Given the description of an element on the screen output the (x, y) to click on. 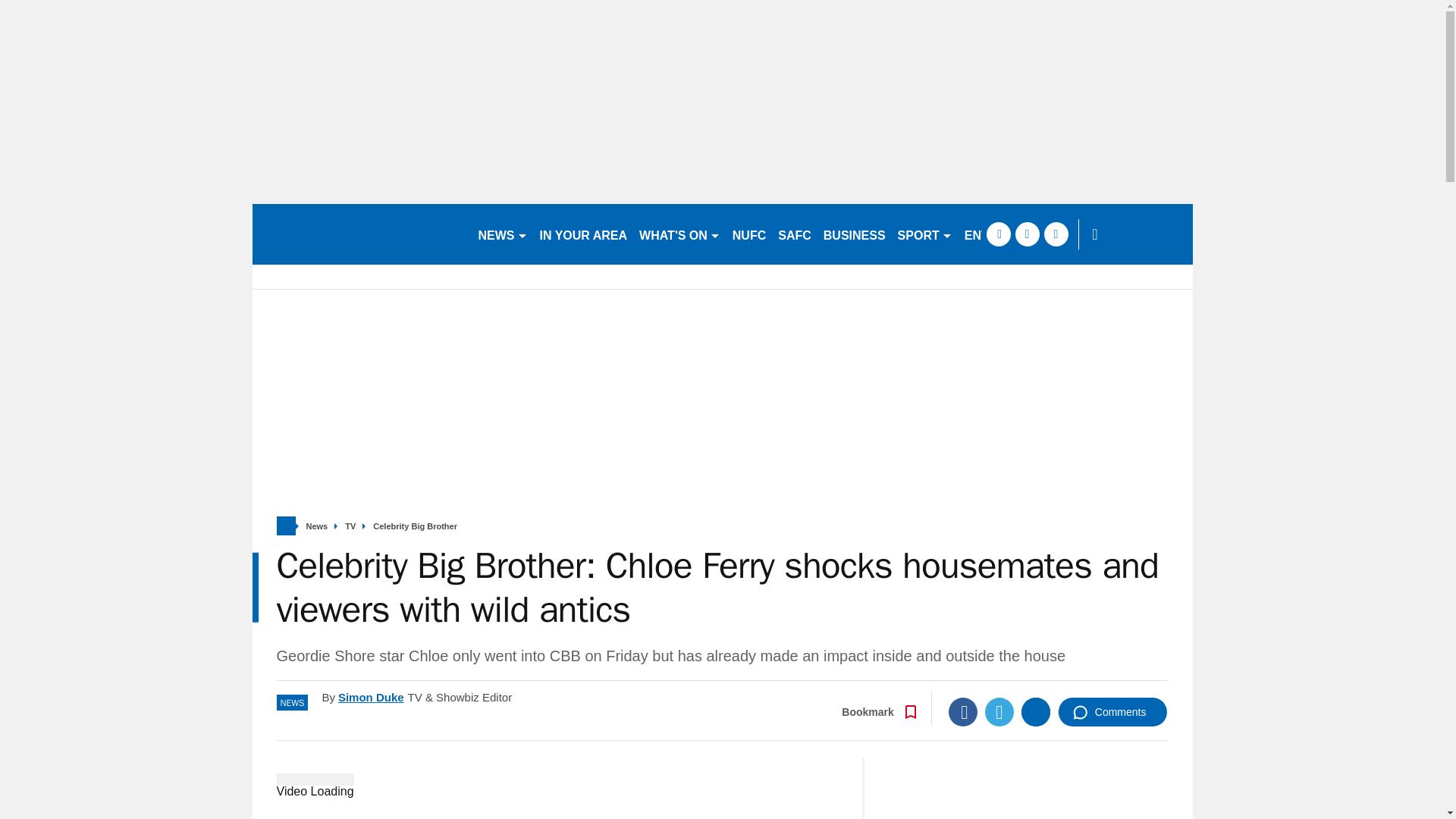
SPORT (924, 233)
nechronicle (357, 233)
BUSINESS (853, 233)
twitter (1026, 233)
IN YOUR AREA (583, 233)
instagram (1055, 233)
Facebook (962, 711)
NEWS (501, 233)
Twitter (999, 711)
facebook (997, 233)
Comments (1112, 711)
WHAT'S ON (679, 233)
